Given the description of an element on the screen output the (x, y) to click on. 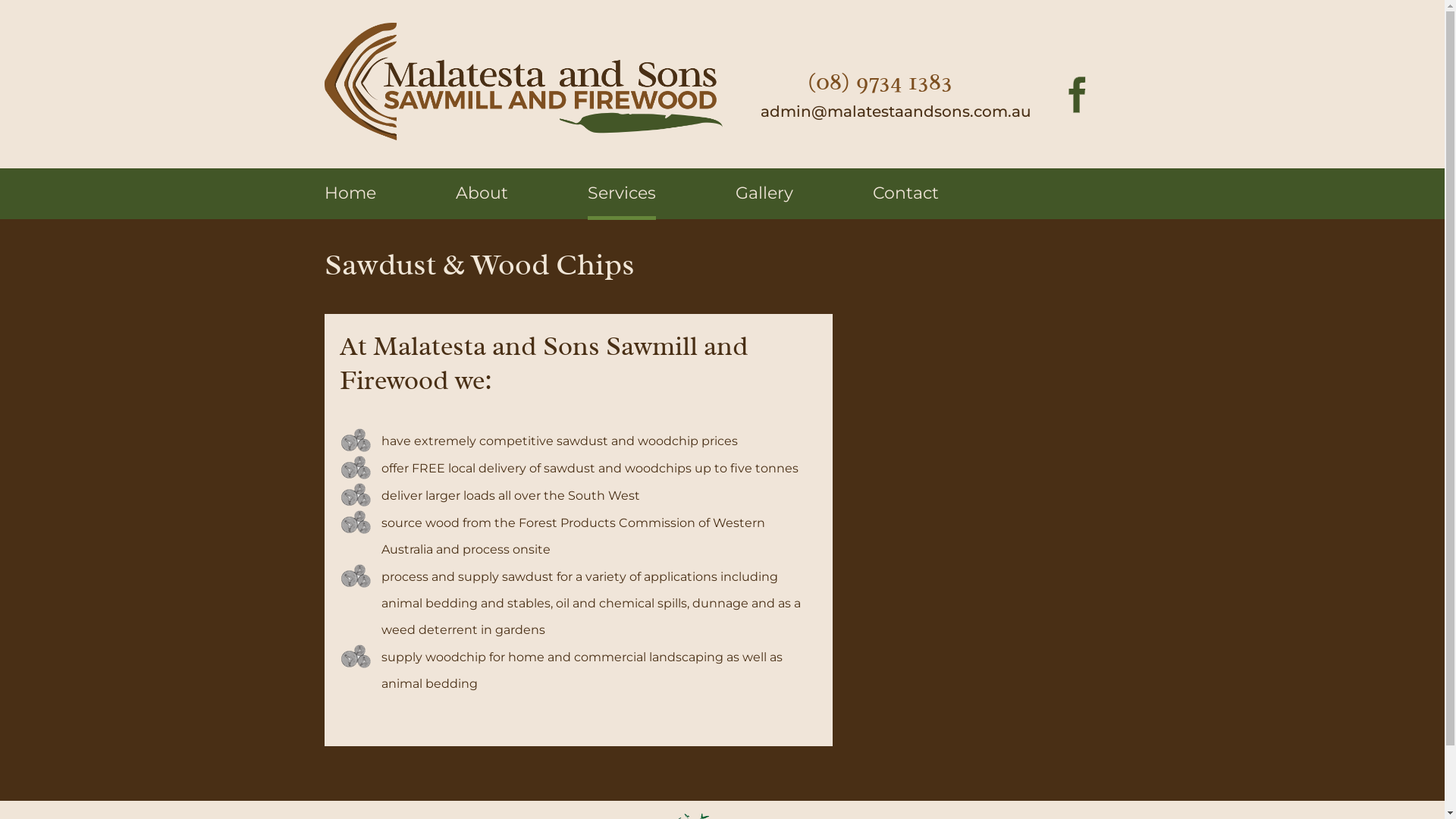
admin@malatestaandsons.com.au Element type: text (894, 111)
About Element type: text (481, 192)
Contact Element type: text (905, 192)
Services Element type: text (620, 200)
Home Element type: text (350, 192)
(08) 9734 1383 Element type: text (878, 81)
Gallery Element type: text (764, 192)
